Given the description of an element on the screen output the (x, y) to click on. 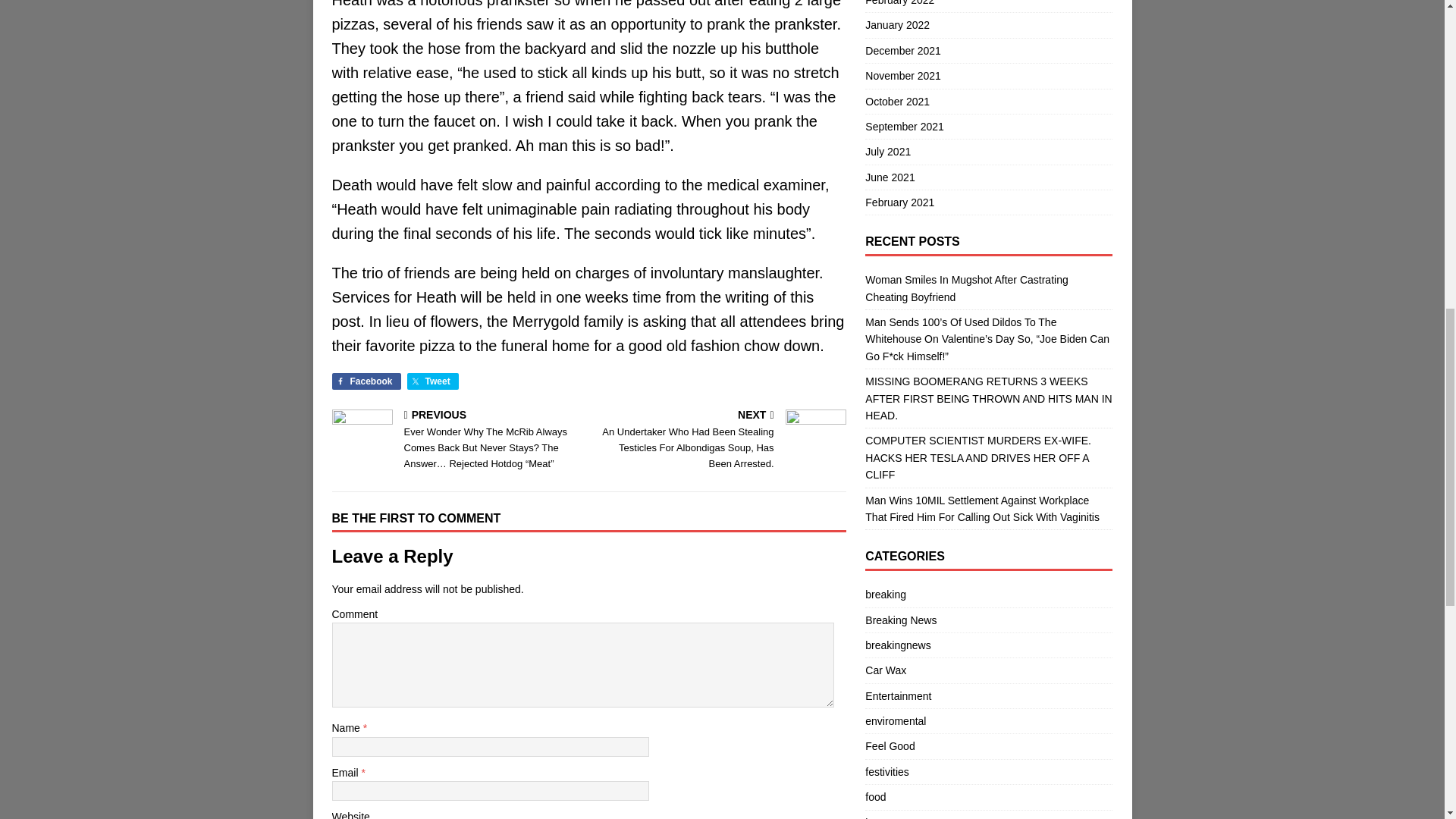
Share on Facebook (366, 381)
Share on Twitter (432, 381)
Tweet (432, 381)
Facebook (366, 381)
